Given the description of an element on the screen output the (x, y) to click on. 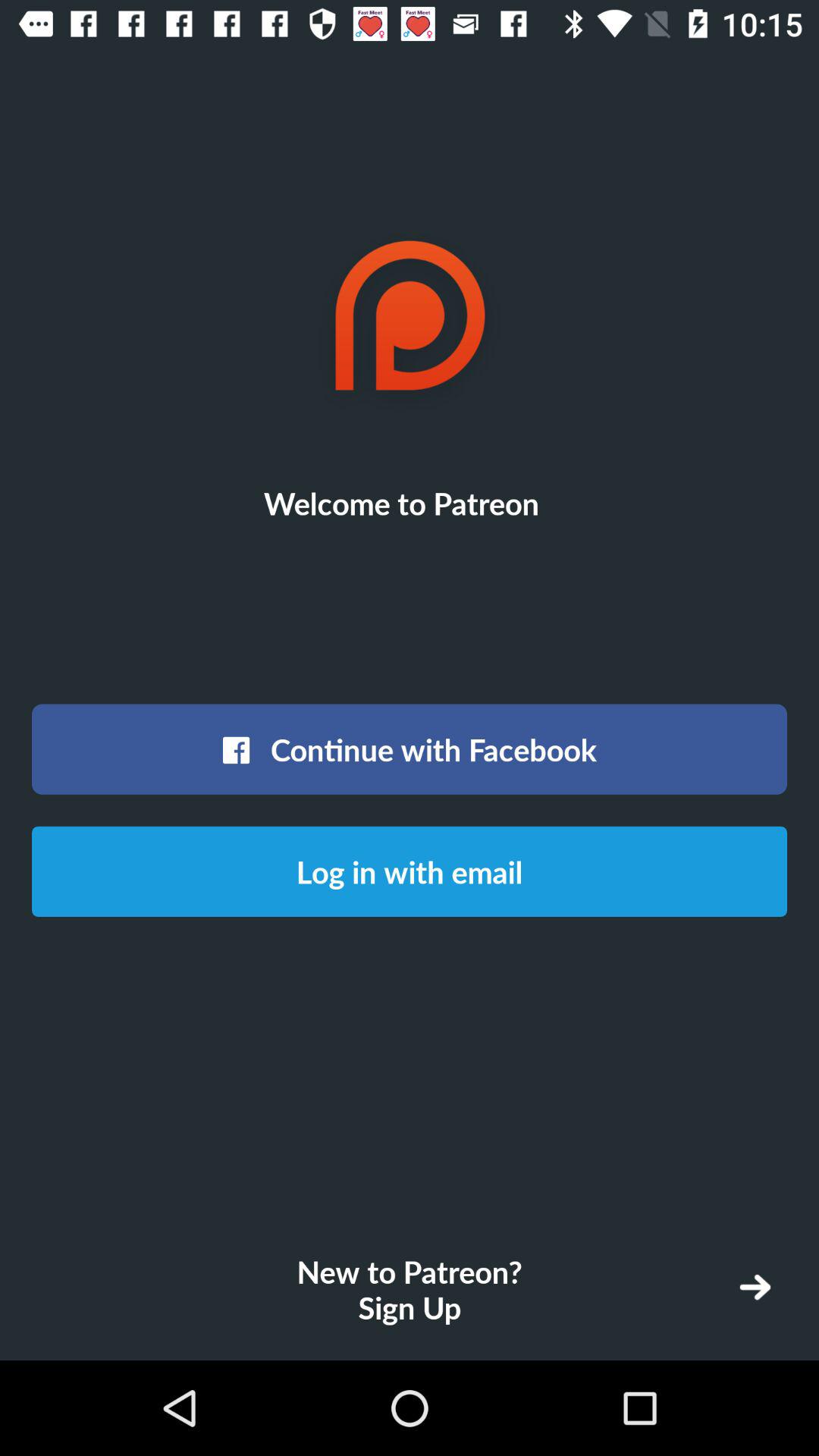
turn off the icon below the welcome to patreon icon (409, 749)
